Given the description of an element on the screen output the (x, y) to click on. 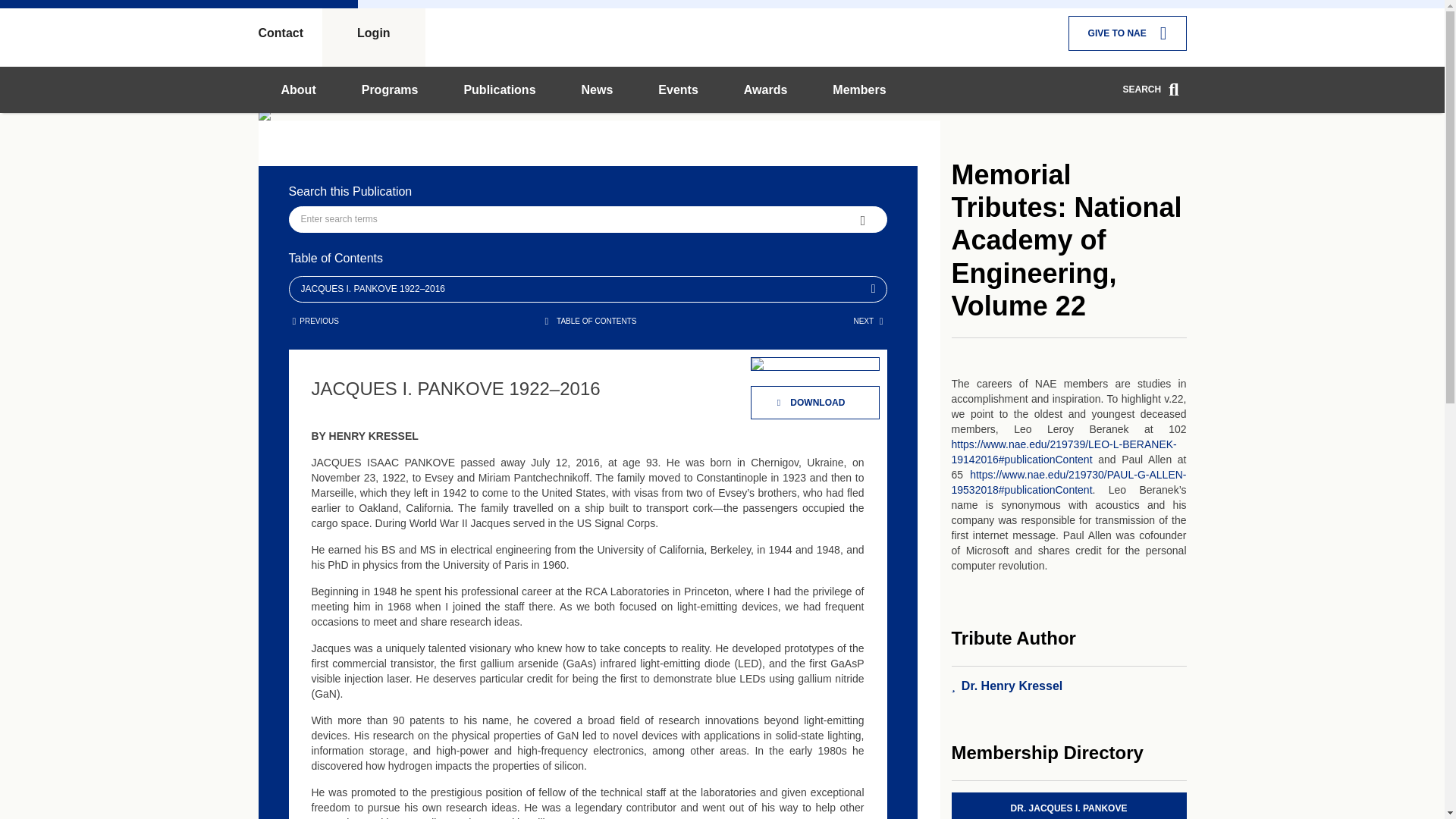
Contact (289, 33)
GIVE TO NAE (1127, 32)
Login (373, 33)
